Given the description of an element on the screen output the (x, y) to click on. 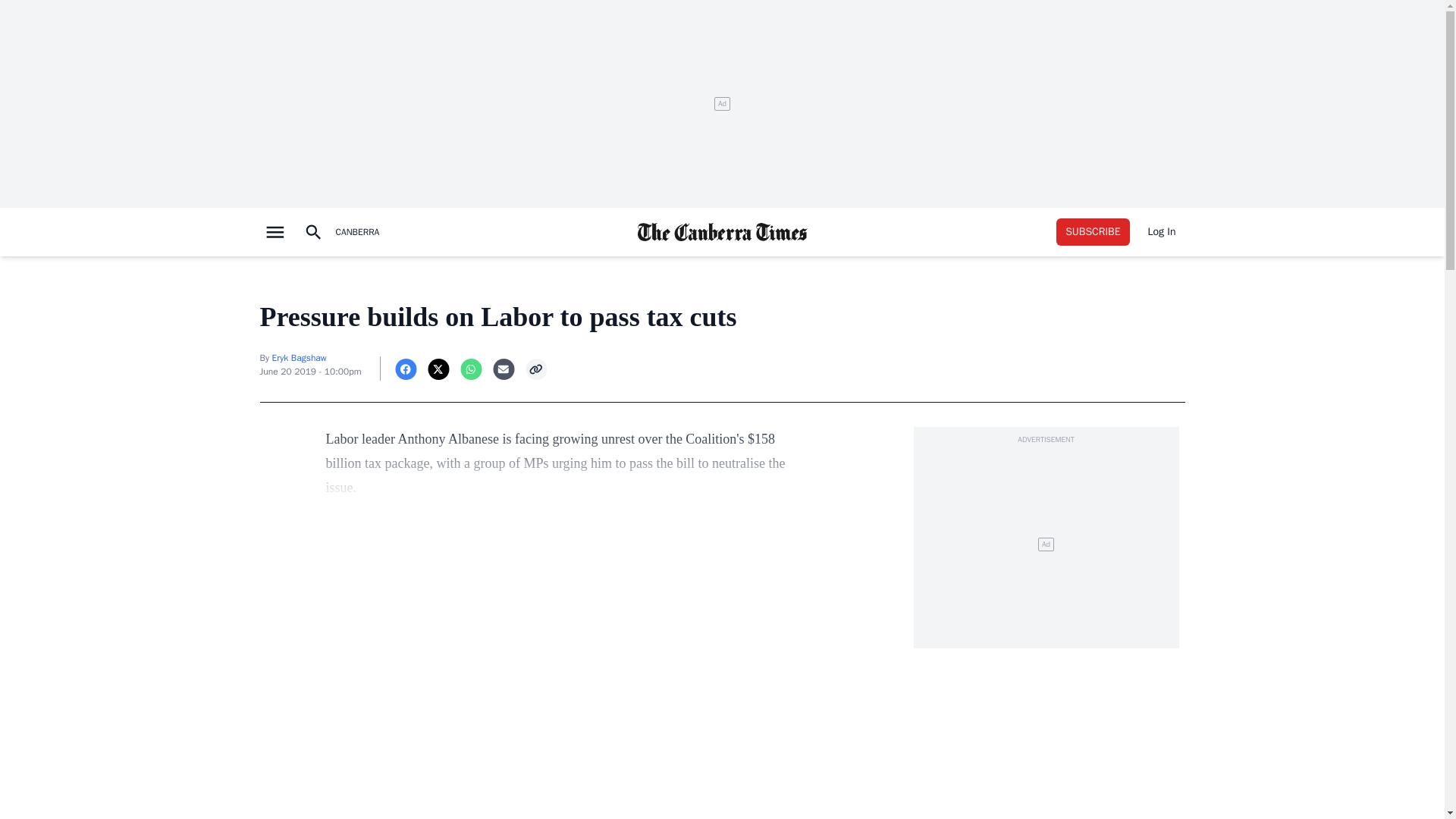
Log In (1161, 231)
CANBERRA (357, 232)
SUBSCRIBE (1093, 231)
